Given the description of an element on the screen output the (x, y) to click on. 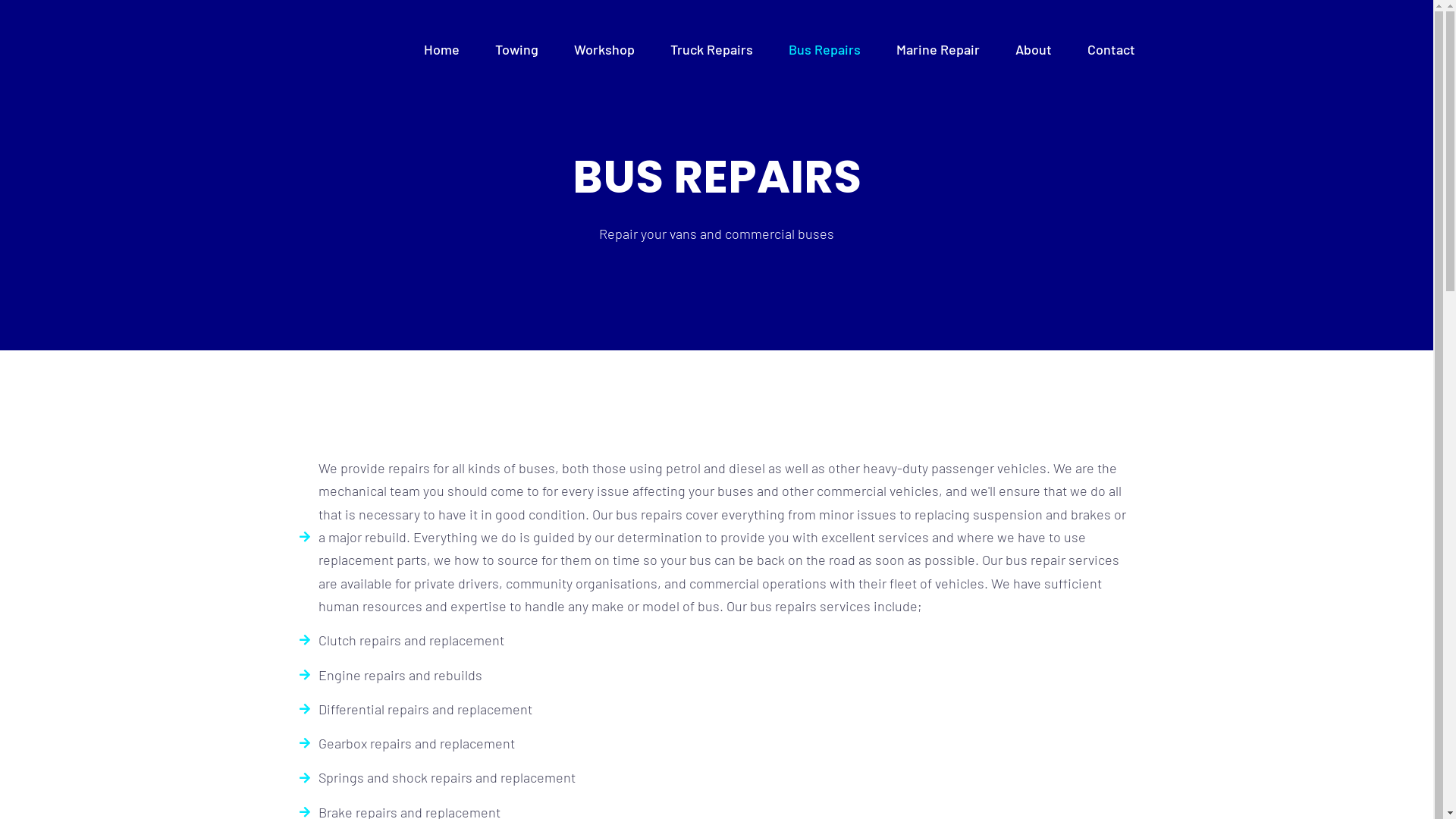
About Element type: text (1033, 48)
Contact Element type: text (1111, 48)
Truck Repairs Element type: text (711, 48)
Towing Element type: text (516, 48)
Bus Repairs Element type: text (824, 48)
Workshop Element type: text (604, 48)
Home Element type: text (441, 48)
Skip to content Element type: text (15, 7)
Marine Repair Element type: text (937, 48)
